Given the description of an element on the screen output the (x, y) to click on. 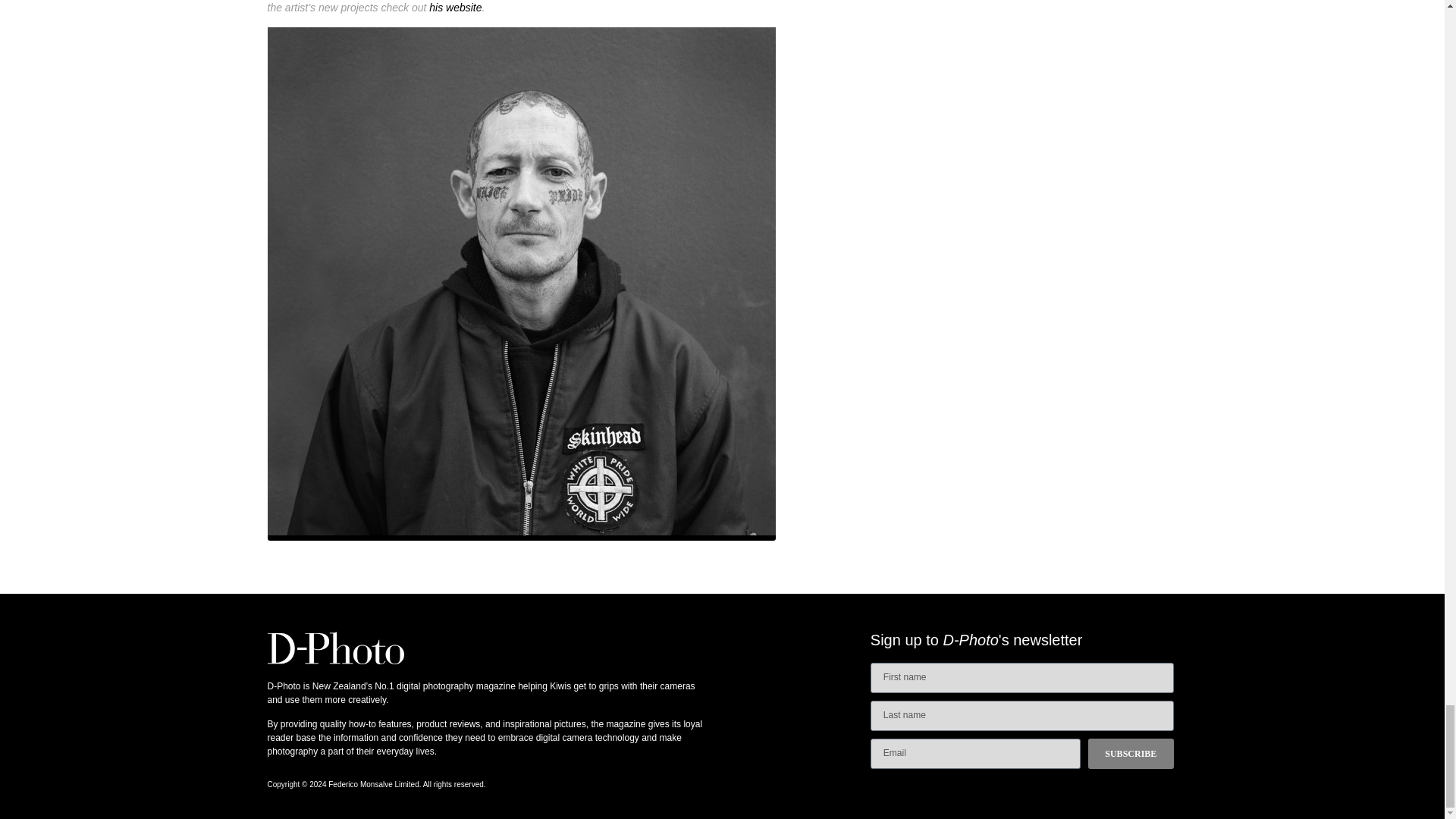
his website (455, 7)
SUBSCRIBE (1130, 753)
